Given the description of an element on the screen output the (x, y) to click on. 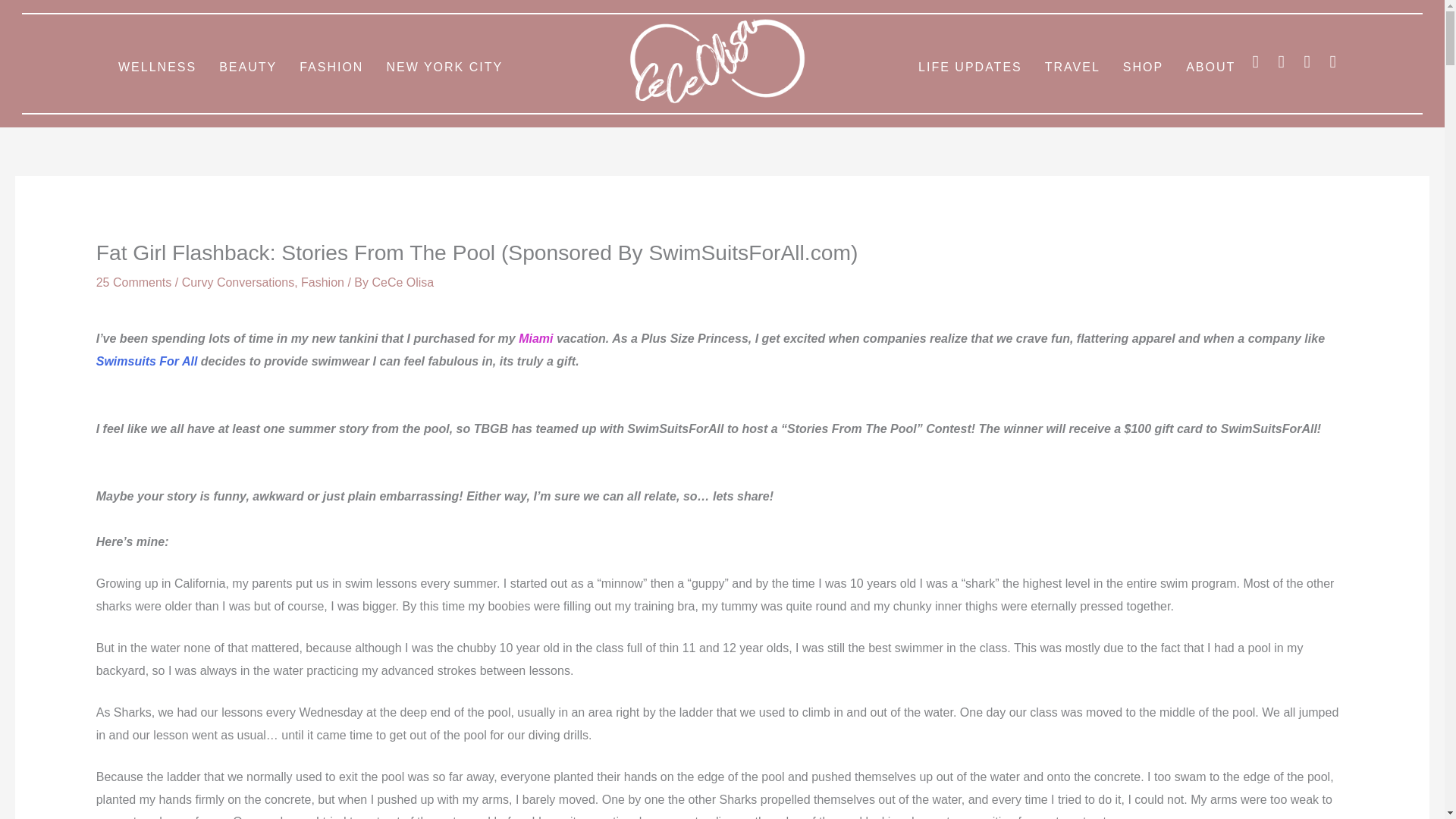
BEAUTY (248, 67)
FASHION (331, 67)
WELLNESS (157, 67)
SHOP (1143, 67)
LIFE UPDATES (970, 67)
ABOUT (1210, 67)
NEW YORK CITY (443, 67)
TRAVEL (1072, 67)
View all posts by CeCe Olisa (402, 282)
